Given the description of an element on the screen output the (x, y) to click on. 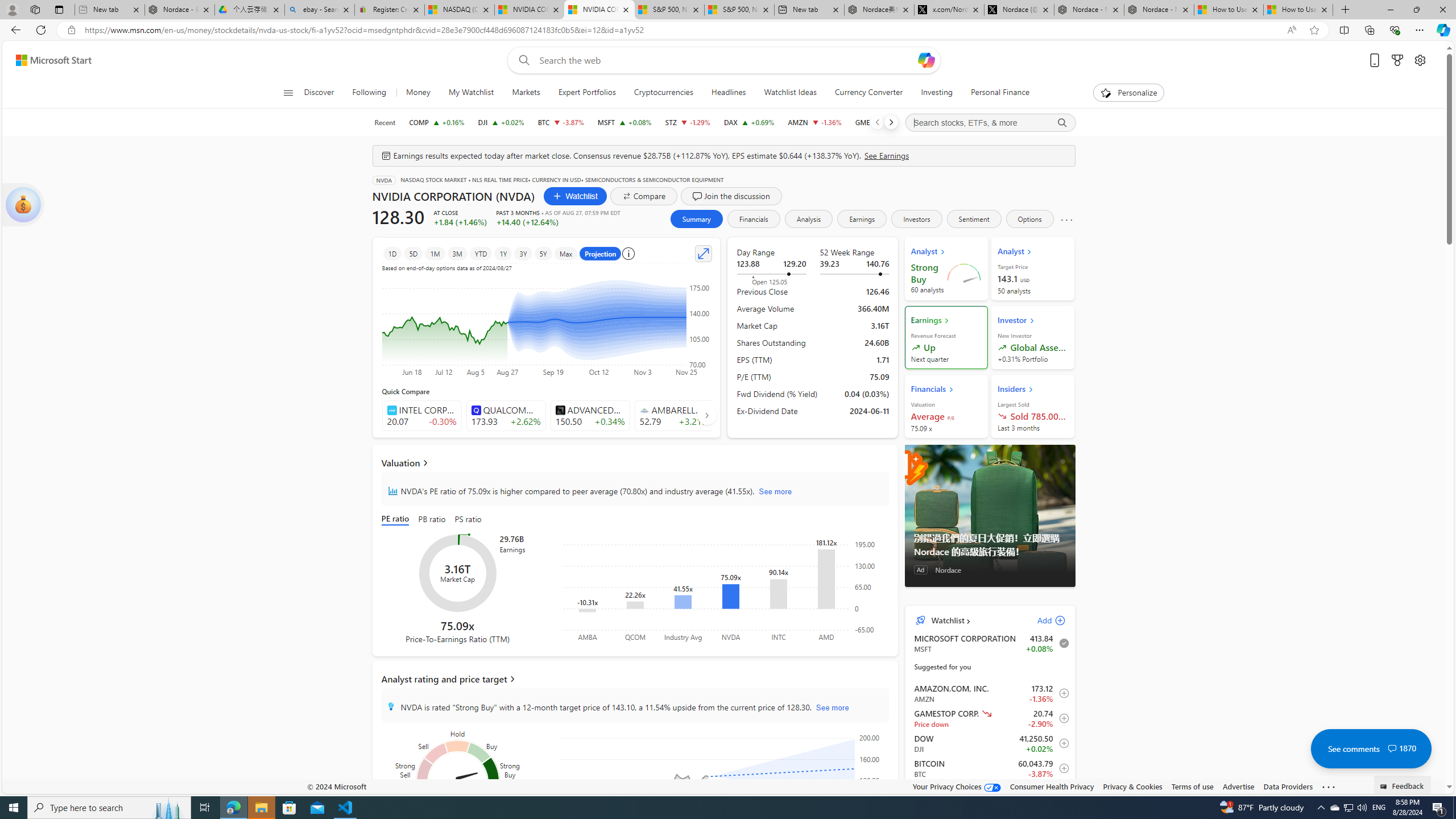
Personal Finance (1000, 92)
AutomationID: finance_carousel_navi_arrow (706, 414)
Investing (936, 92)
AMZN AMAZON.COM, INC. decrease 173.12 -2.38 -1.36% item0 (989, 692)
Previous (876, 122)
Class: card_head_icon_lightMode-DS-EntryPoint1-1 (1030, 388)
Skip to footer (46, 59)
PE ratio (397, 520)
BTC Bitcoin decrease 60,043.79 -2,323.69 -3.87% item3 (989, 767)
